Given the description of an element on the screen output the (x, y) to click on. 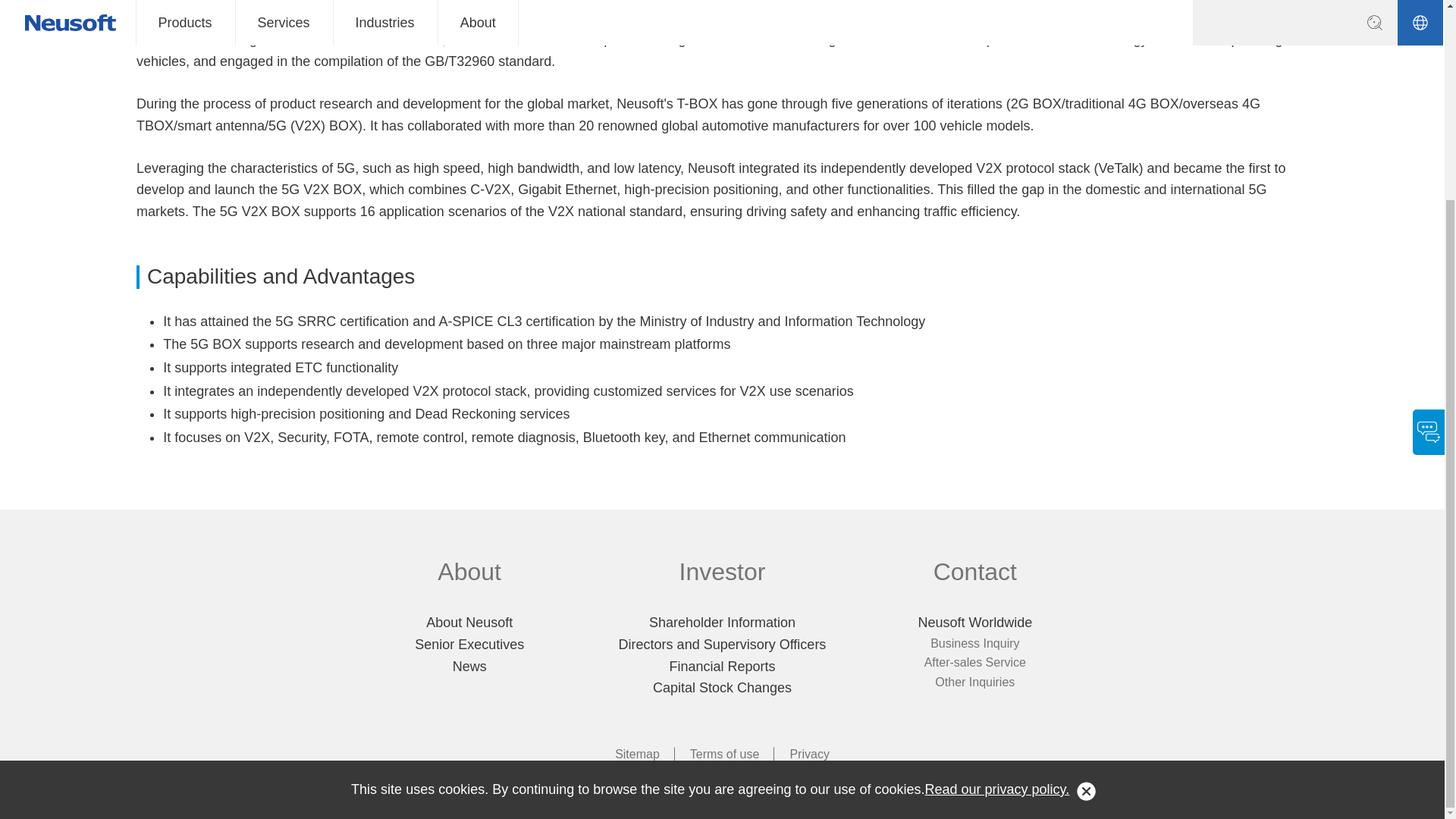
Read our privacy policy. (997, 534)
